Given the description of an element on the screen output the (x, y) to click on. 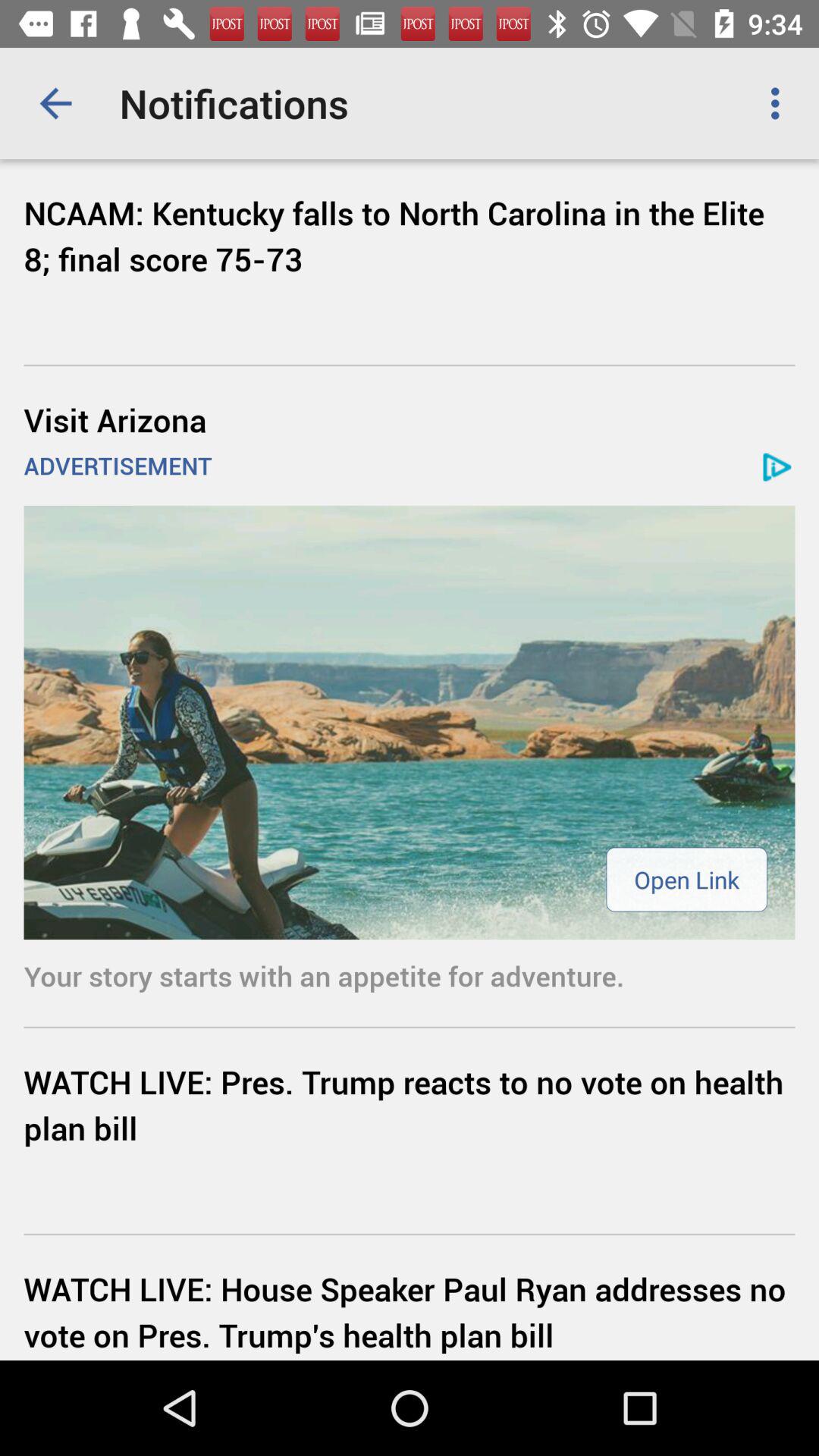
open the icon on the right (686, 879)
